Given the description of an element on the screen output the (x, y) to click on. 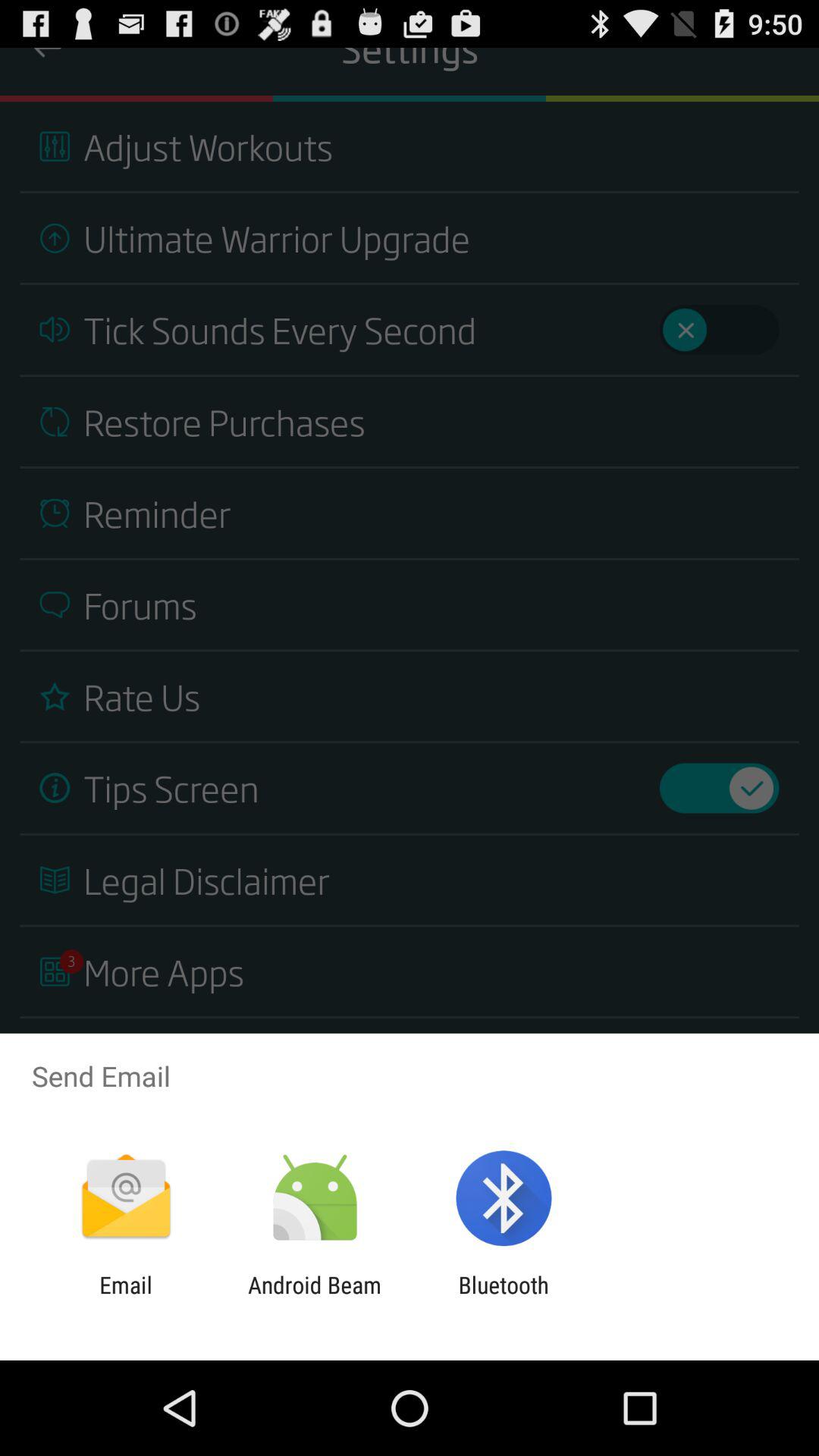
turn on the icon to the right of android beam item (503, 1298)
